Given the description of an element on the screen output the (x, y) to click on. 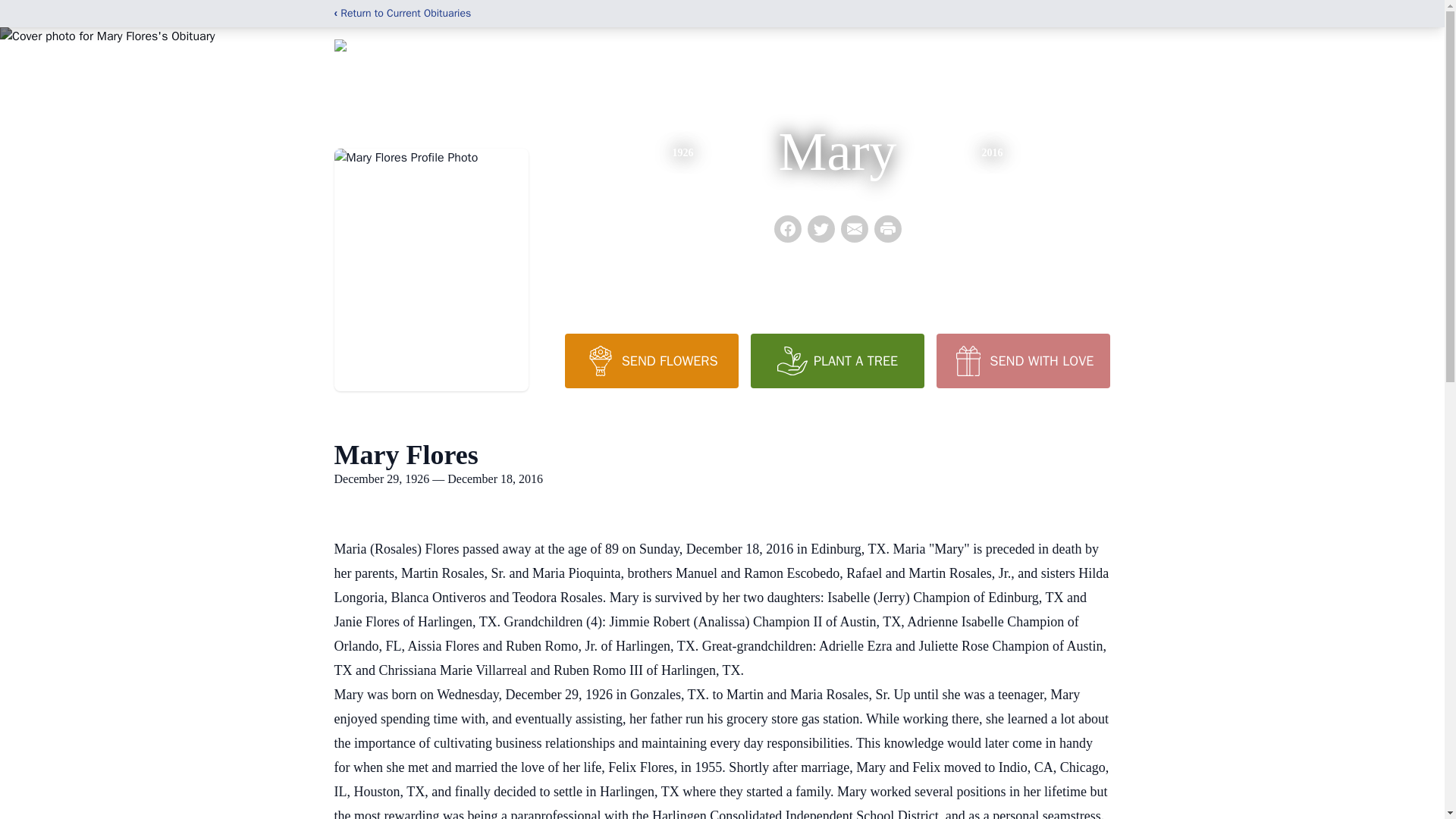
PLANT A TREE (837, 360)
SEND FLOWERS (651, 360)
SEND WITH LOVE (1022, 360)
